Given the description of an element on the screen output the (x, y) to click on. 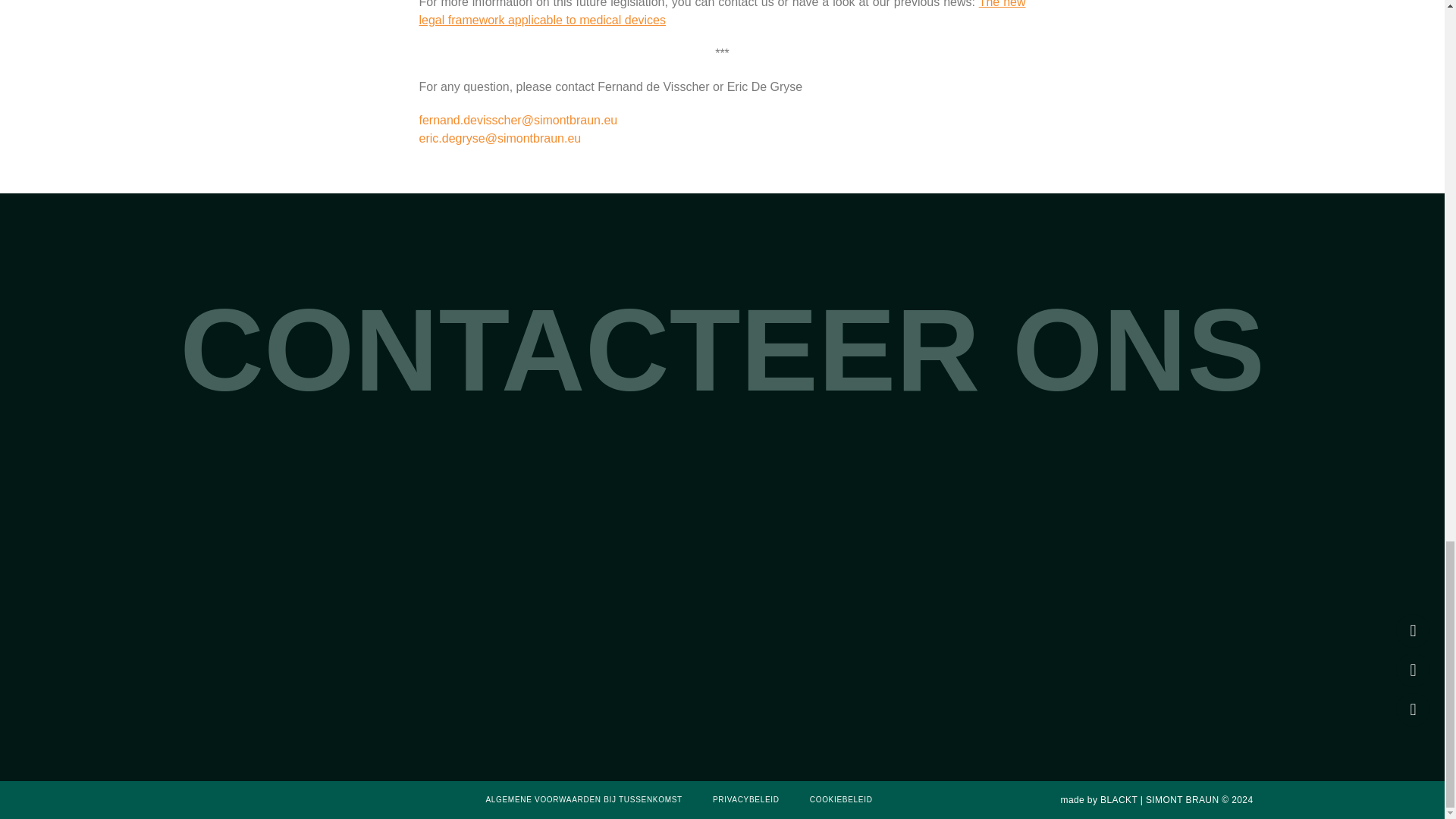
COOKIEBELEID (840, 799)
PRIVACYBELEID (745, 799)
The new legal framework applicable to medical devices (722, 13)
ALGEMENE VOORWAARDEN BIJ TUSSENKOMST (583, 799)
